Given the description of an element on the screen output the (x, y) to click on. 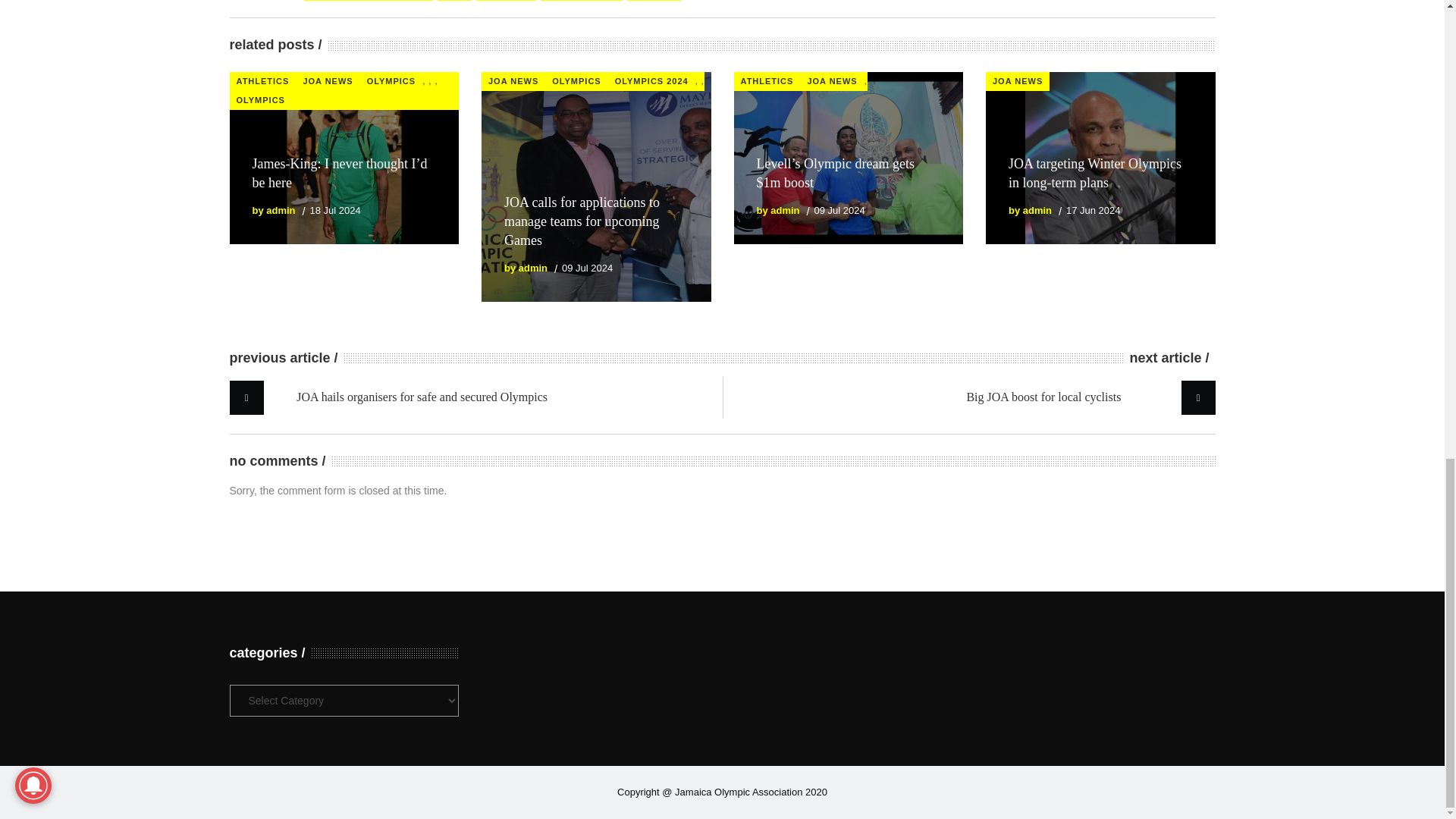
NETBALL (505, 0)
OLYMPICS (575, 81)
by admin (273, 210)
ATHLETICS (261, 81)
OLYMPICS (259, 99)
18 Jul 2024 (333, 210)
JOA NEWS (327, 81)
JOA NEWS (512, 81)
OLYMPICS (390, 81)
SPORTS (654, 0)
OLYMPICS 2024 (651, 81)
